Given the description of an element on the screen output the (x, y) to click on. 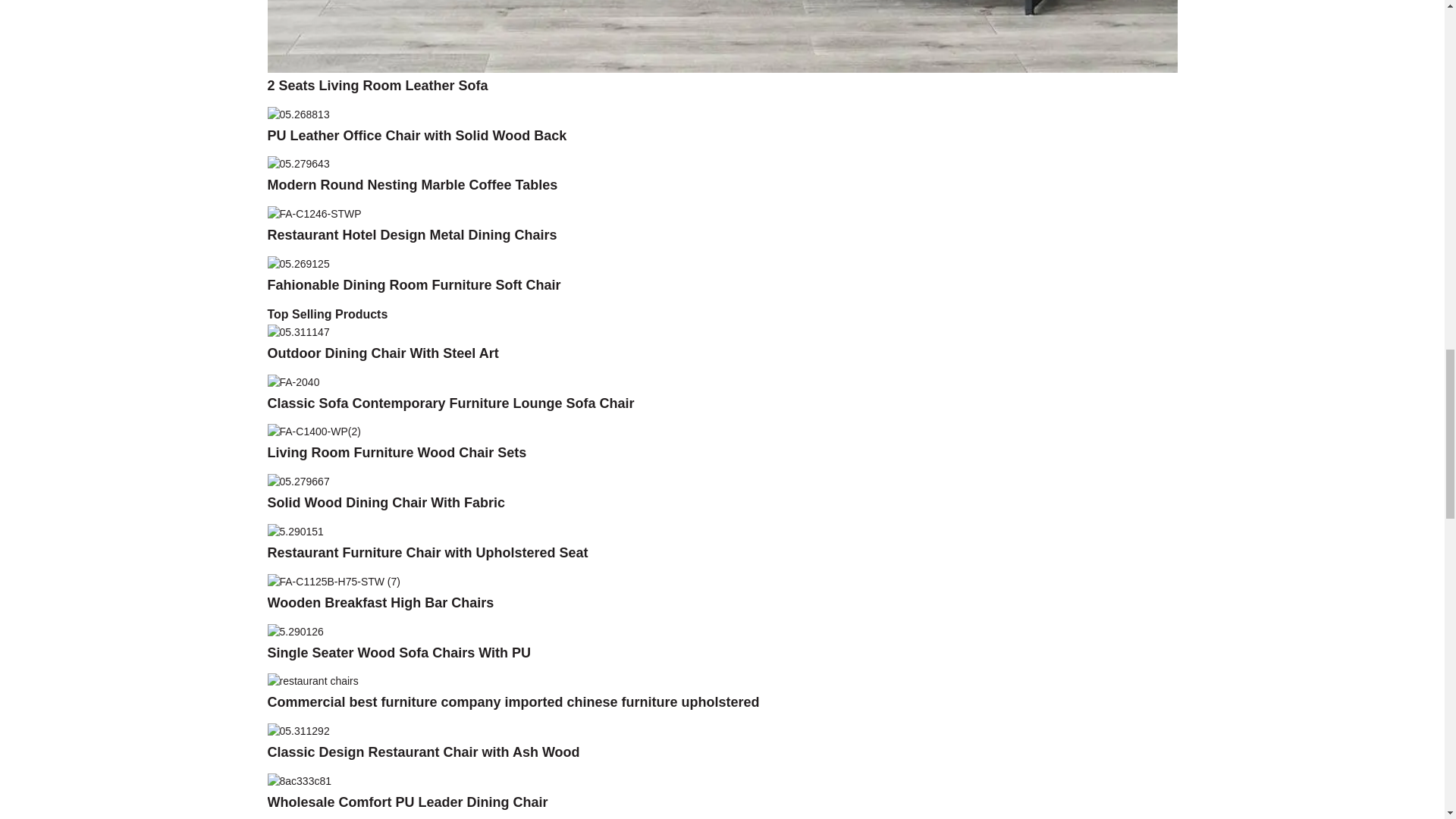
Modern Round Nesting Marble Coffee Tables (297, 163)
PU Leather Office Chair with Solid Wood Back (297, 113)
Restaurant Hotel Design Metal Dining Chairs (313, 213)
Modern Round Nesting Marble Coffee Tables (411, 184)
Restaurant Hotel Design Metal Dining Chairs (411, 234)
PU Leather Office Chair with Solid Wood Back (416, 135)
2 Seats Living Room Leather Sofa (376, 85)
